Given the description of an element on the screen output the (x, y) to click on. 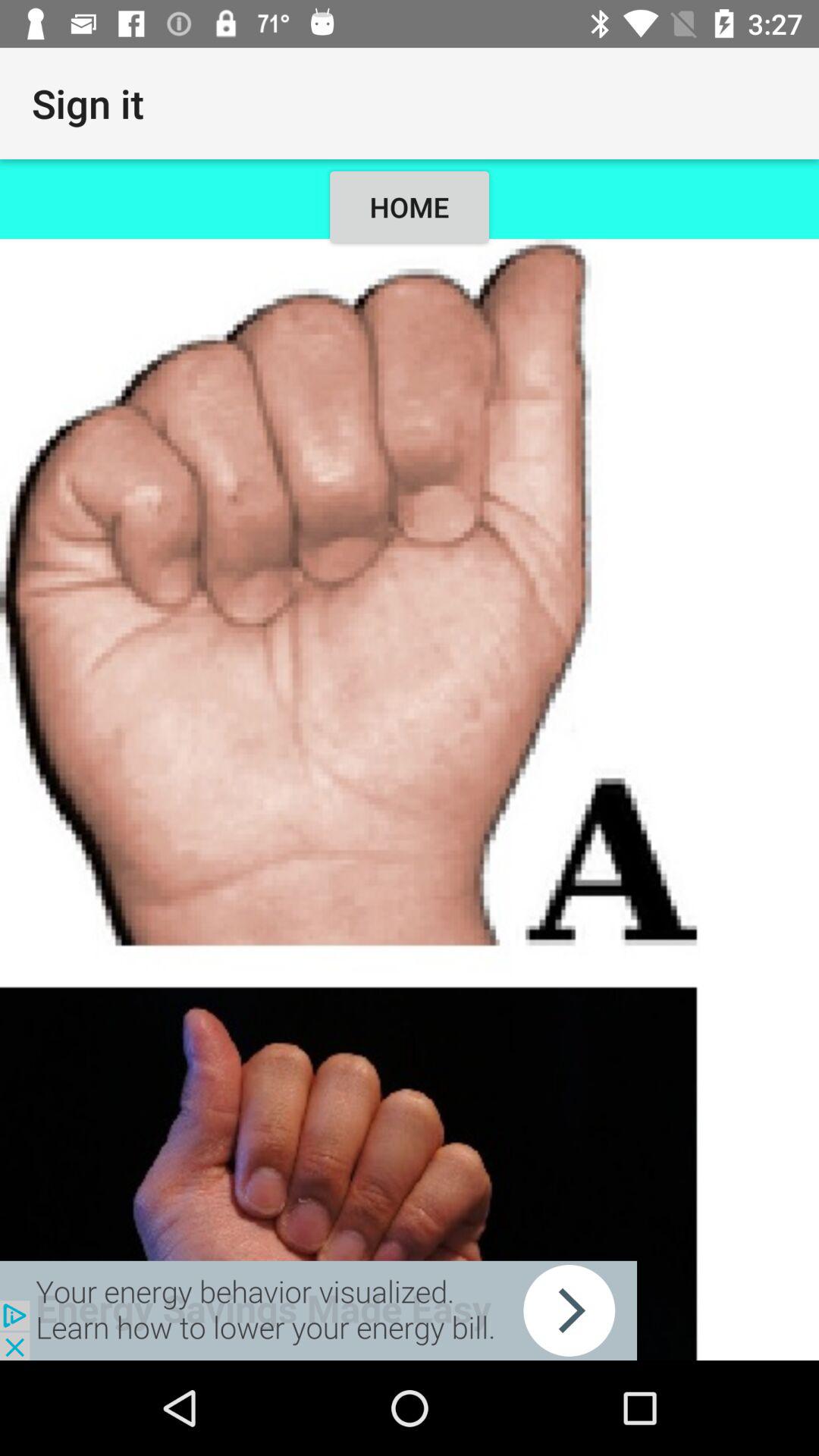
click image (409, 799)
